Given the description of an element on the screen output the (x, y) to click on. 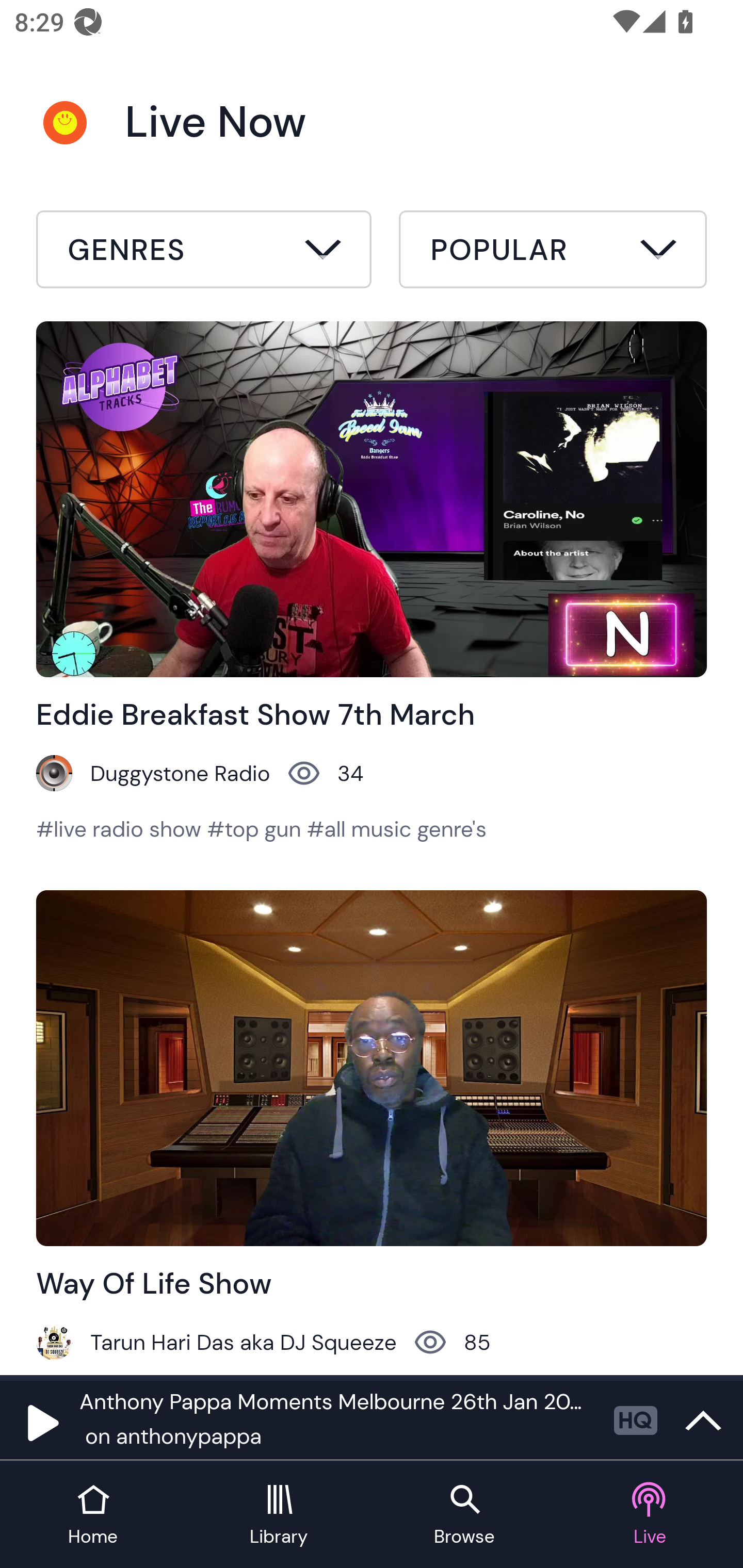
Filter by button All (203, 252)
Sort by button Popular (552, 252)
Home tab Home (92, 1515)
Library tab Library (278, 1515)
Browse tab Browse (464, 1515)
Live tab Live (650, 1515)
